Given the description of an element on the screen output the (x, y) to click on. 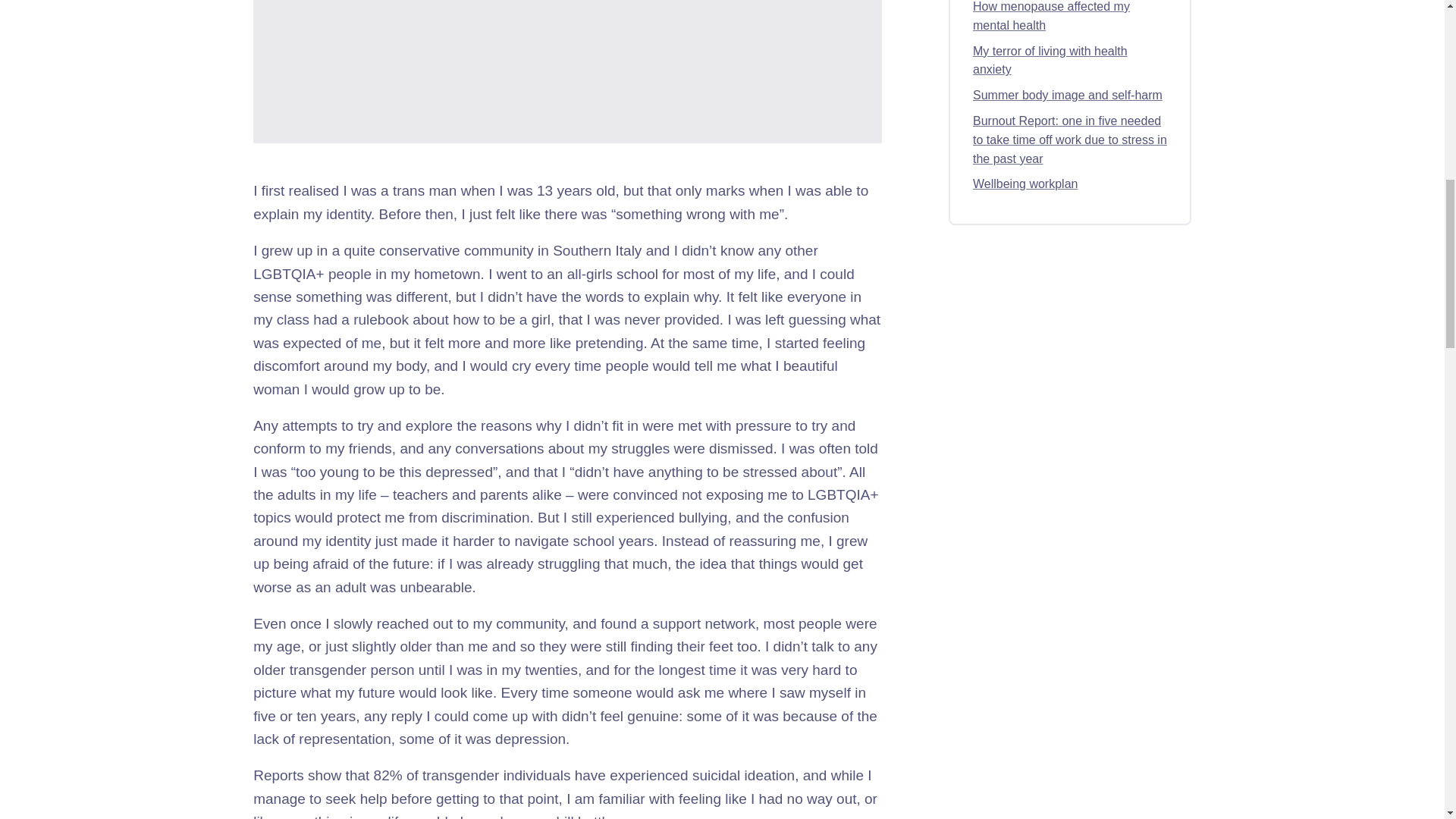
Back to top (722, 16)
